Given the description of an element on the screen output the (x, y) to click on. 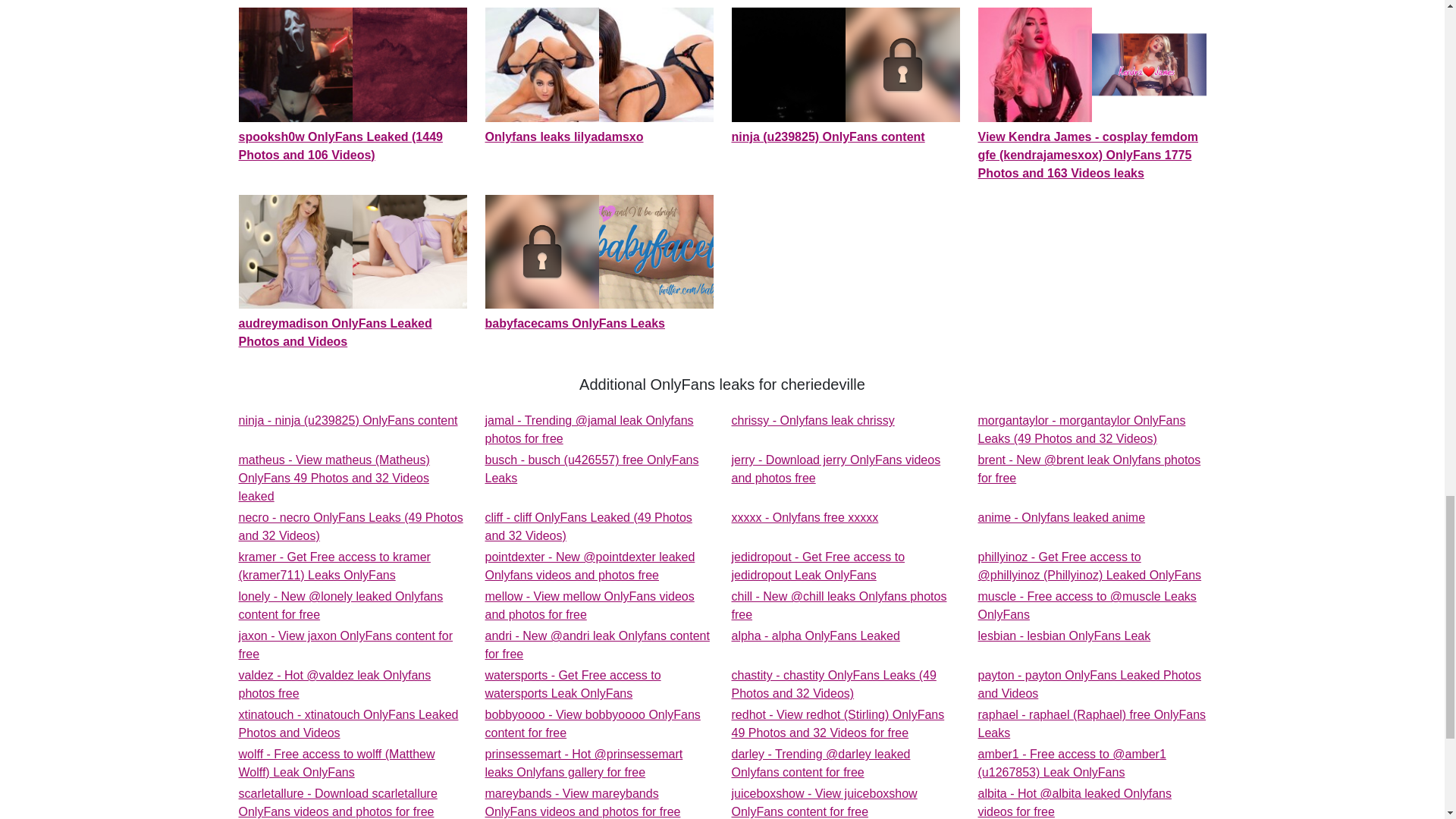
audreymadison OnlyFans Leaked Photos and Videos (817, 565)
jerry - Download jerry OnlyFans videos and photos free (811, 420)
xxxxx - Onlyfans free xxxxx (351, 273)
Onlyfans leaks lilyadamsxo (589, 604)
chrissy - Onlyfans leak chrissy (835, 468)
anime - Onlyfans leaked anime (803, 517)
